Given the description of an element on the screen output the (x, y) to click on. 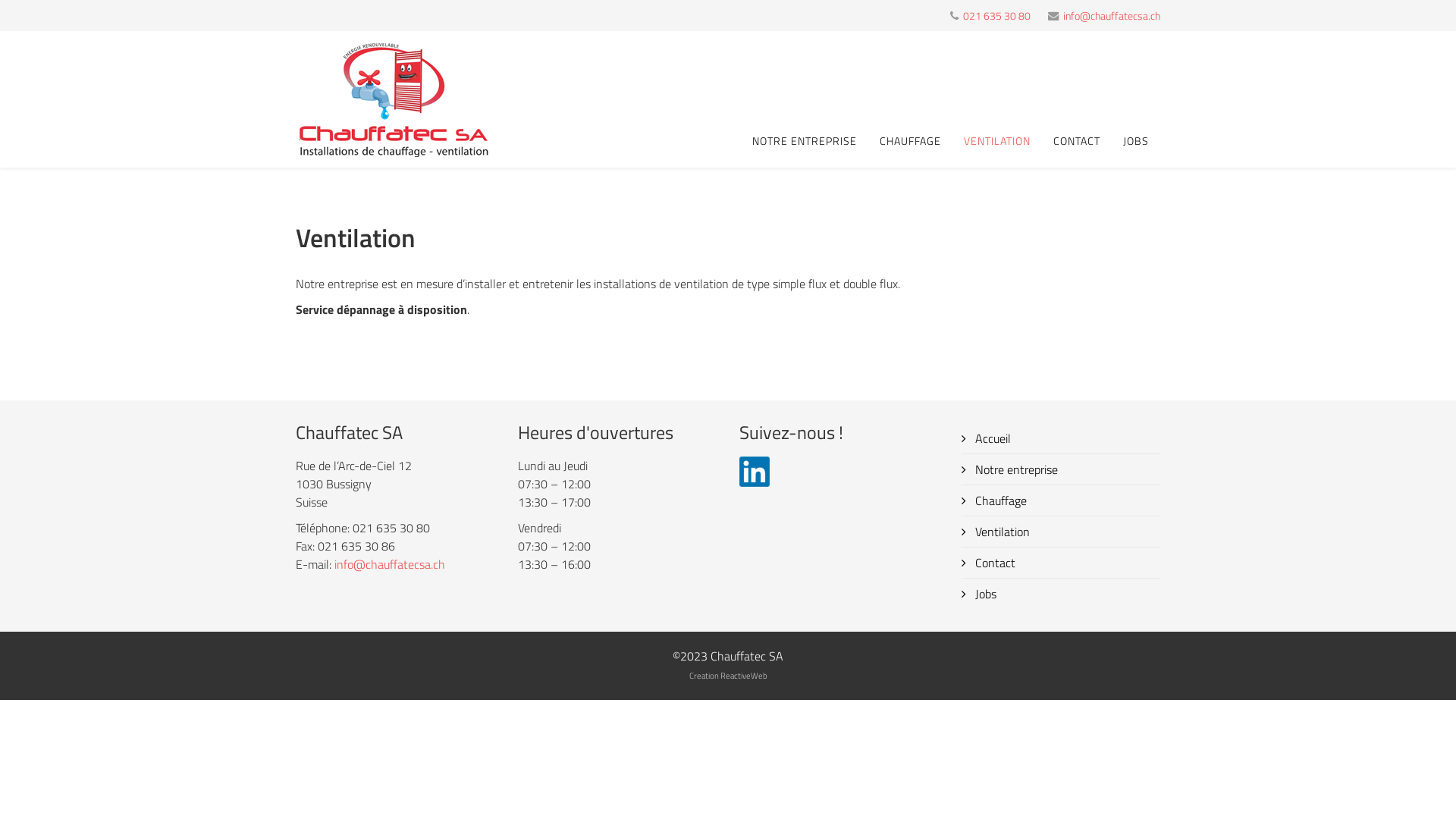
info@chauffatecsa.ch Element type: text (389, 564)
Accueil Element type: text (1061, 438)
Chauffage Element type: text (1061, 500)
Notre entreprise Element type: text (1061, 469)
Creation ReactiveWeb Element type: text (727, 675)
VENTILATION Element type: text (996, 141)
021 635 30 80 Element type: text (996, 15)
JOBS Element type: text (1135, 141)
CHAUFFAGE Element type: text (910, 141)
CONTACT Element type: text (1076, 141)
Contact Element type: text (1061, 562)
info@chauffatecsa.ch Element type: text (1111, 15)
Ventilation Element type: text (1061, 531)
NOTRE ENTREPRISE Element type: text (804, 141)
Jobs Element type: text (1061, 593)
